Given the description of an element on the screen output the (x, y) to click on. 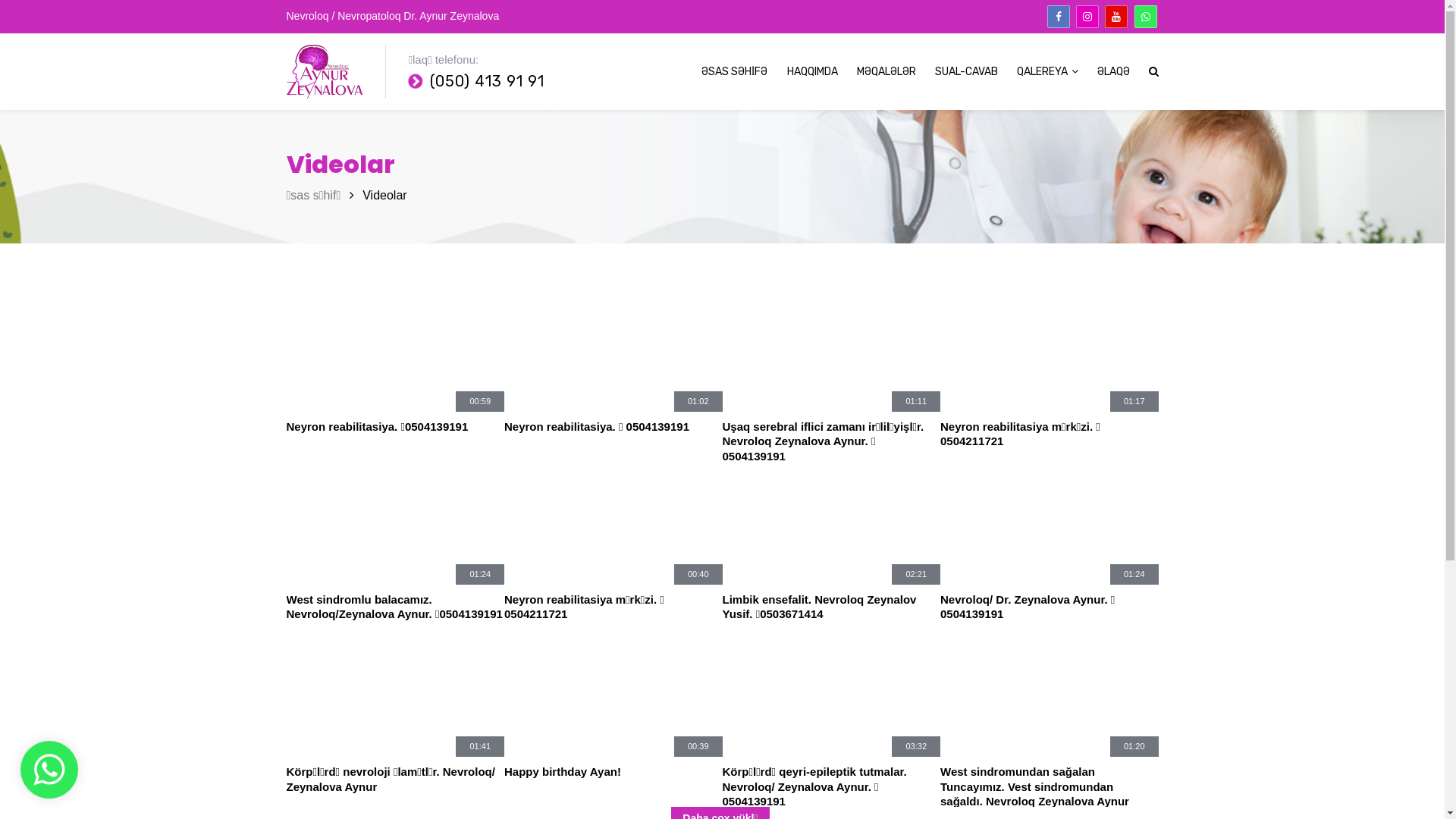
HAQQIMDA Element type: text (812, 71)
Happy birthday Ayan! Element type: text (613, 785)
QALEREYA Element type: text (1046, 71)
SUAL-CAVAB Element type: text (965, 71)
